Given the description of an element on the screen output the (x, y) to click on. 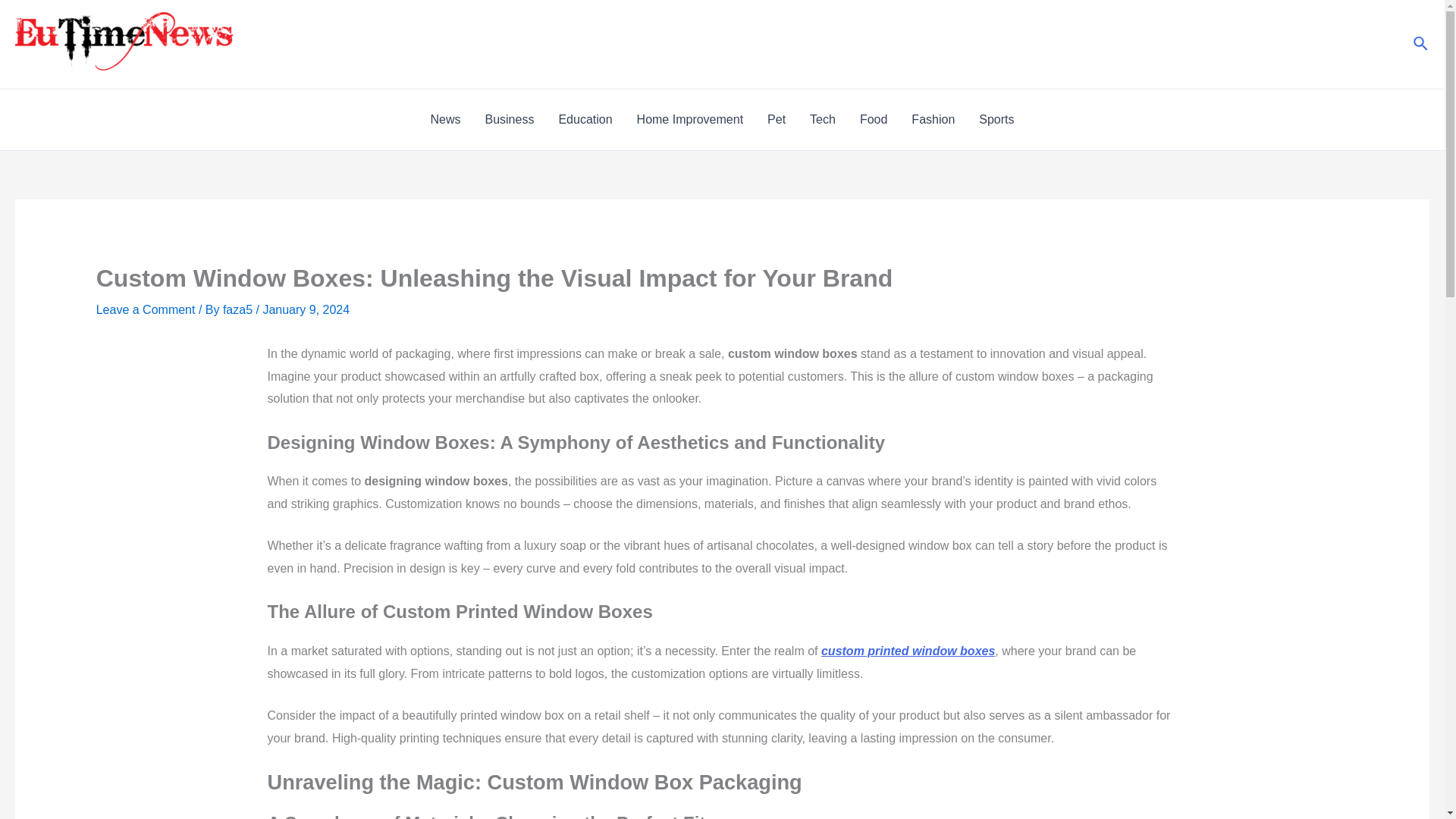
Business (508, 119)
faza5 (239, 309)
Home Improvement (689, 119)
Leave a Comment (145, 309)
custom printed window boxes (907, 650)
Education (585, 119)
News (444, 119)
Sports (996, 119)
Fashion (932, 119)
View all posts by faza5 (239, 309)
